Given the description of an element on the screen output the (x, y) to click on. 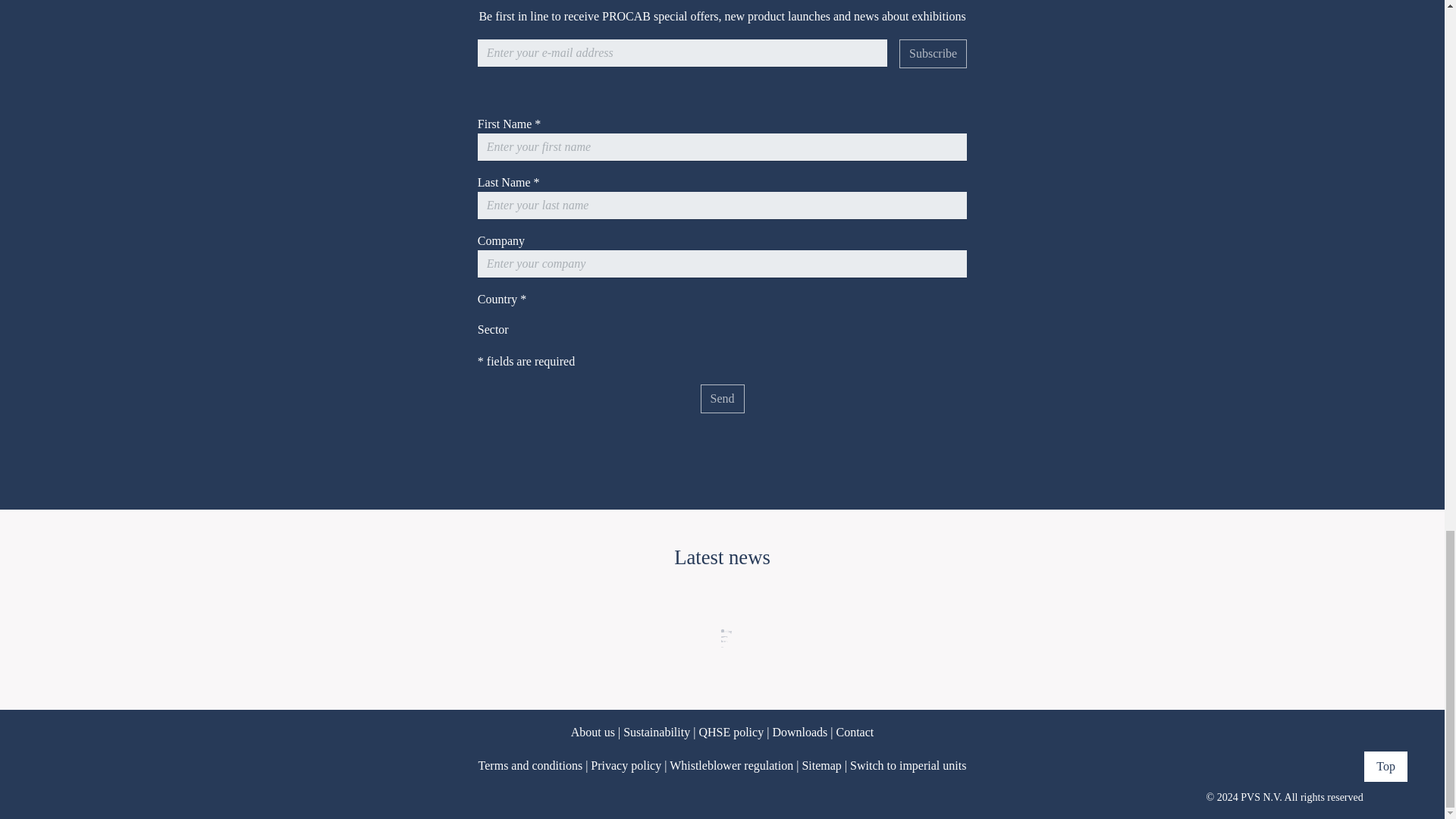
linkedin (156, 751)
facebook (95, 751)
x (126, 751)
Subscribe (932, 53)
